Given the description of an element on the screen output the (x, y) to click on. 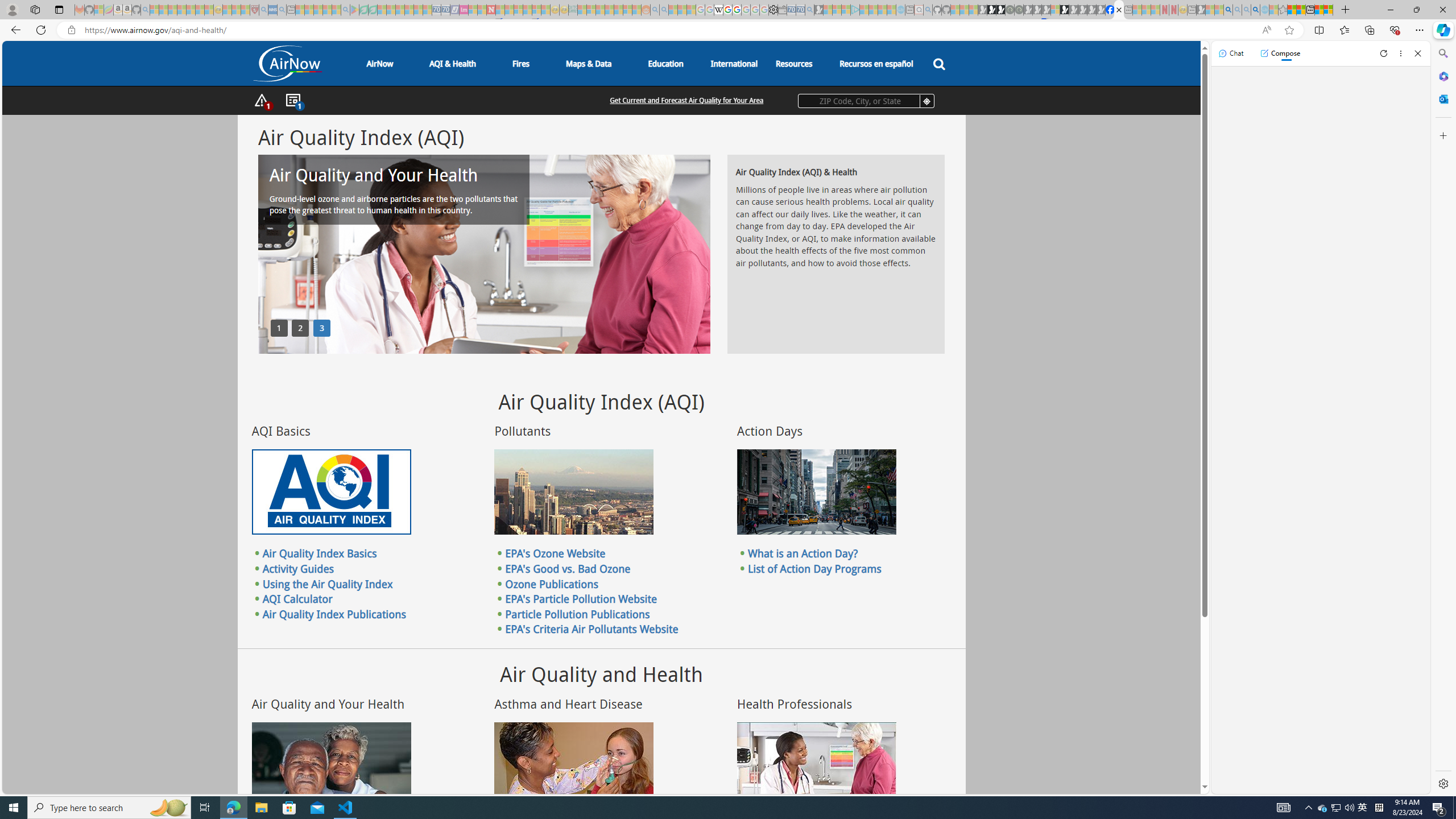
What is an Action Day? (802, 553)
